Given the description of an element on the screen output the (x, y) to click on. 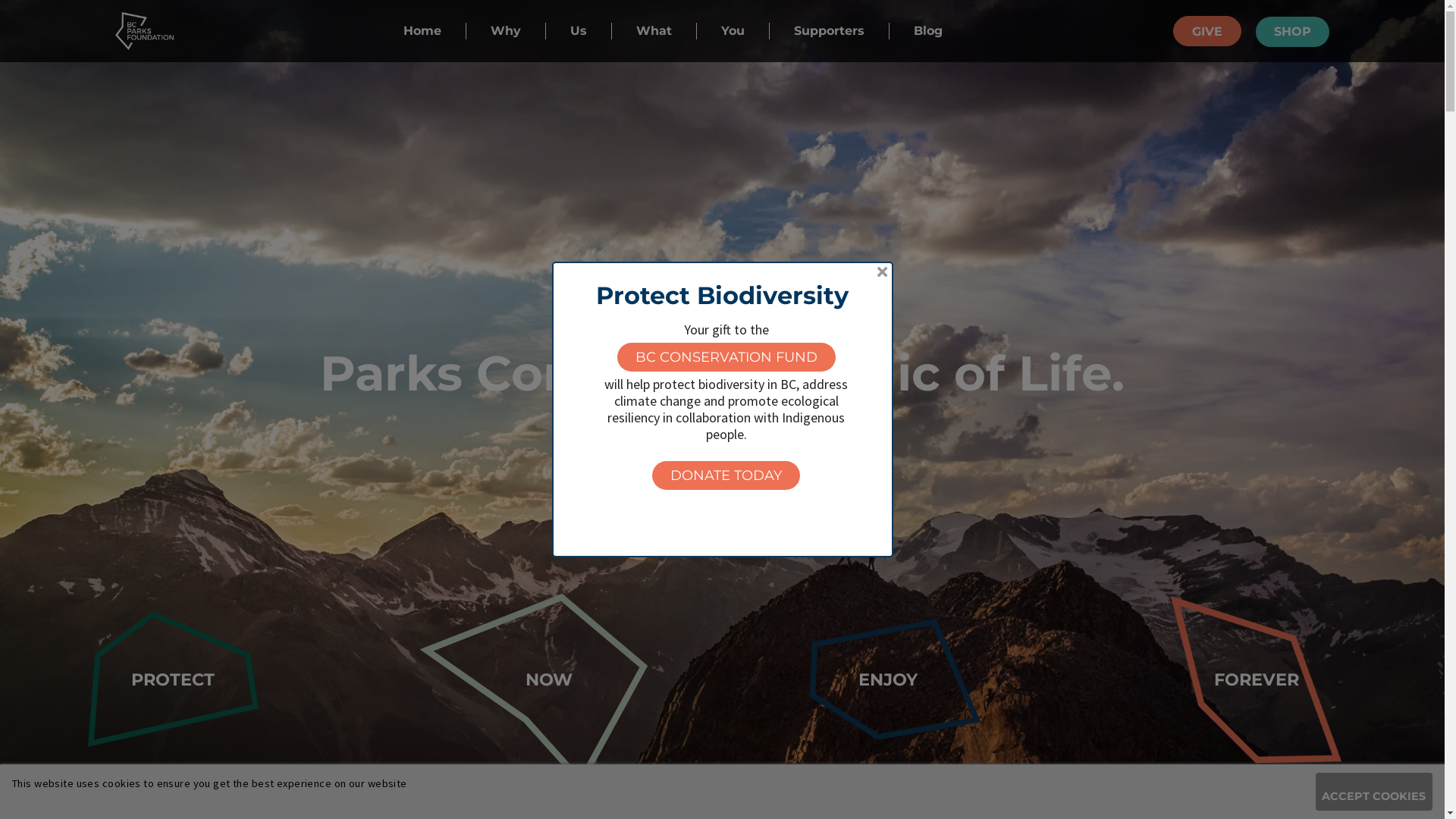
ENJOY Element type: text (887, 679)
BC Parks Foundation Element type: text (144, 31)
You Element type: text (732, 30)
What Element type: text (653, 30)
SHOP Element type: text (1292, 31)
Supporters Element type: text (828, 30)
PROTECT Element type: text (172, 679)
BC CONSERVATION FUND Element type: text (726, 356)
Us Element type: text (578, 30)
FOREVER Element type: text (1256, 679)
Home Element type: text (422, 30)
Why Element type: text (505, 30)
GIVE Element type: text (1207, 30)
DONATE TODAY Element type: text (726, 475)
ACCEPT COOKIES Element type: text (1373, 791)
Blog Element type: text (927, 30)
NOW Element type: text (548, 679)
